Given the description of an element on the screen output the (x, y) to click on. 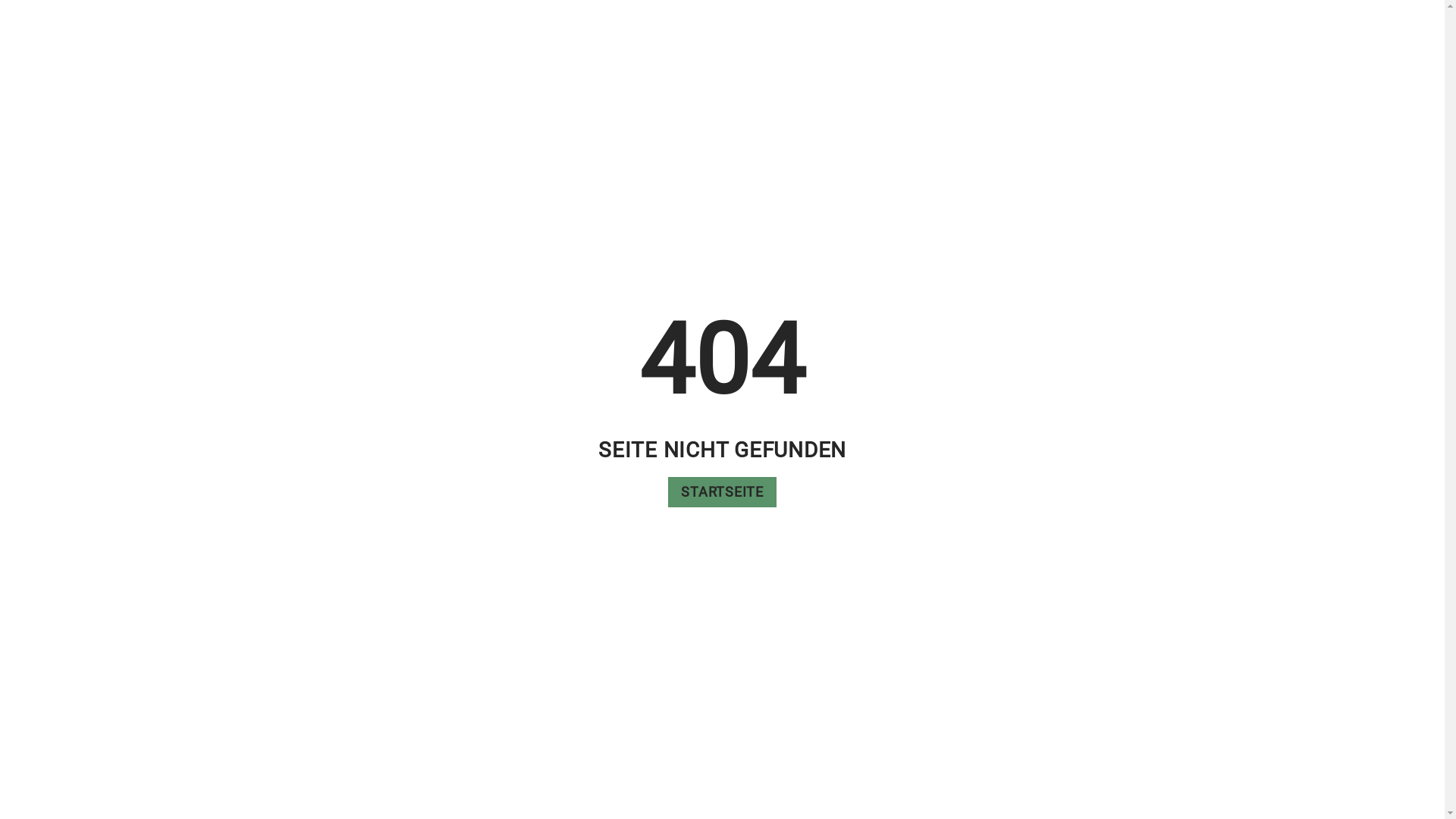
STARTSEITE Element type: text (722, 491)
